Given the description of an element on the screen output the (x, y) to click on. 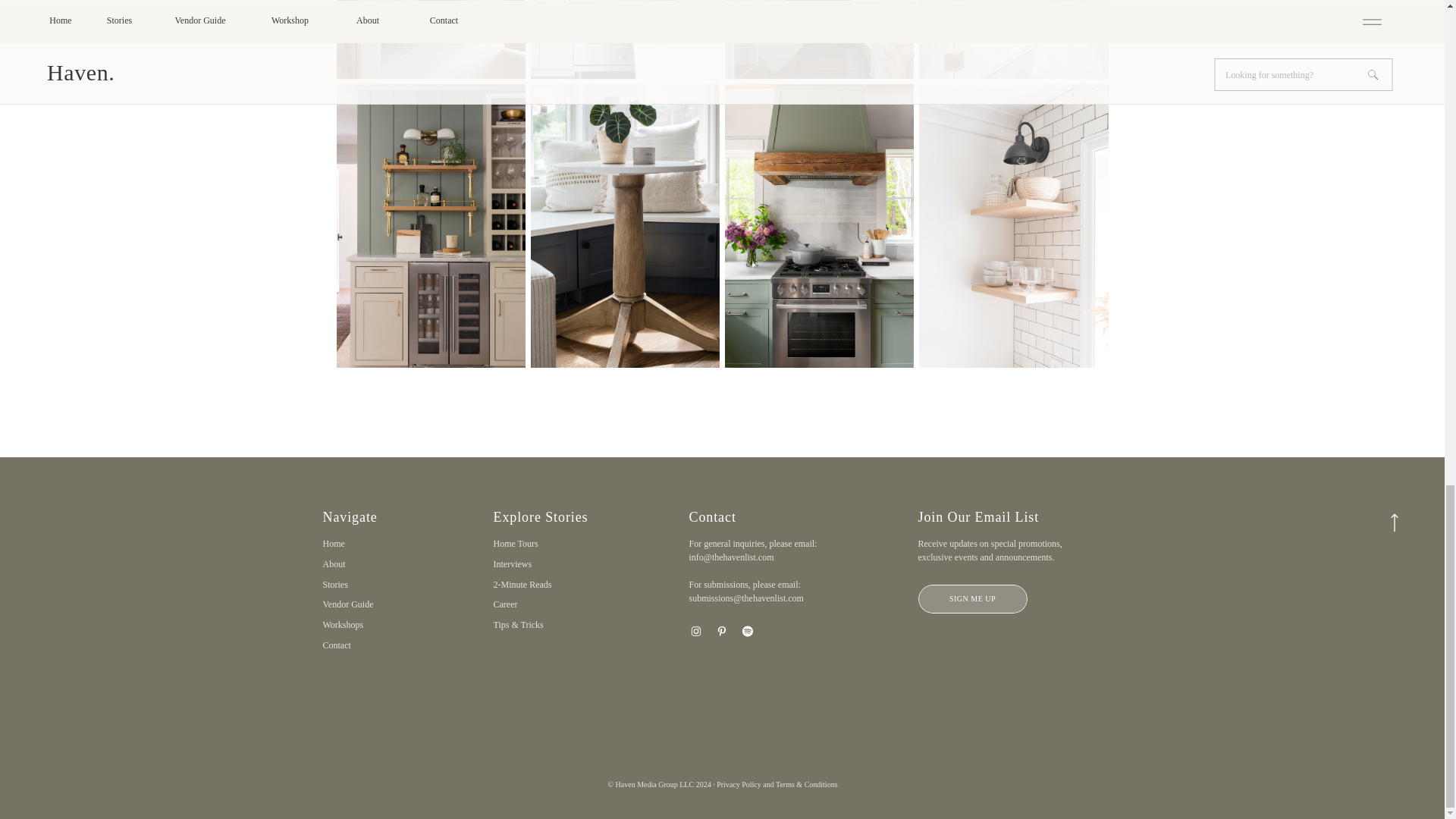
About (364, 563)
Home (364, 543)
